Given the description of an element on the screen output the (x, y) to click on. 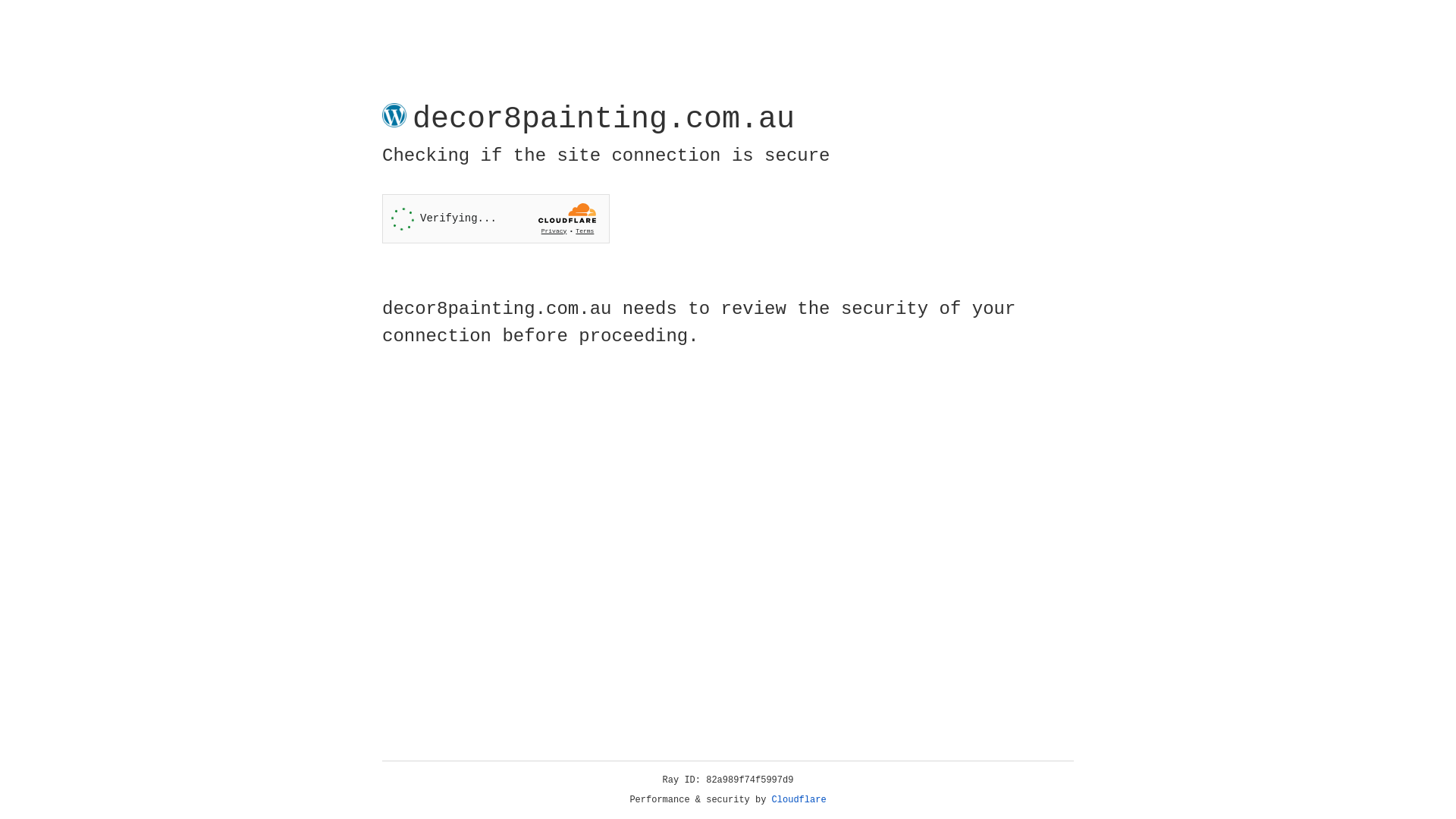
Widget containing a Cloudflare security challenge Element type: hover (495, 218)
Cloudflare Element type: text (798, 799)
